Given the description of an element on the screen output the (x, y) to click on. 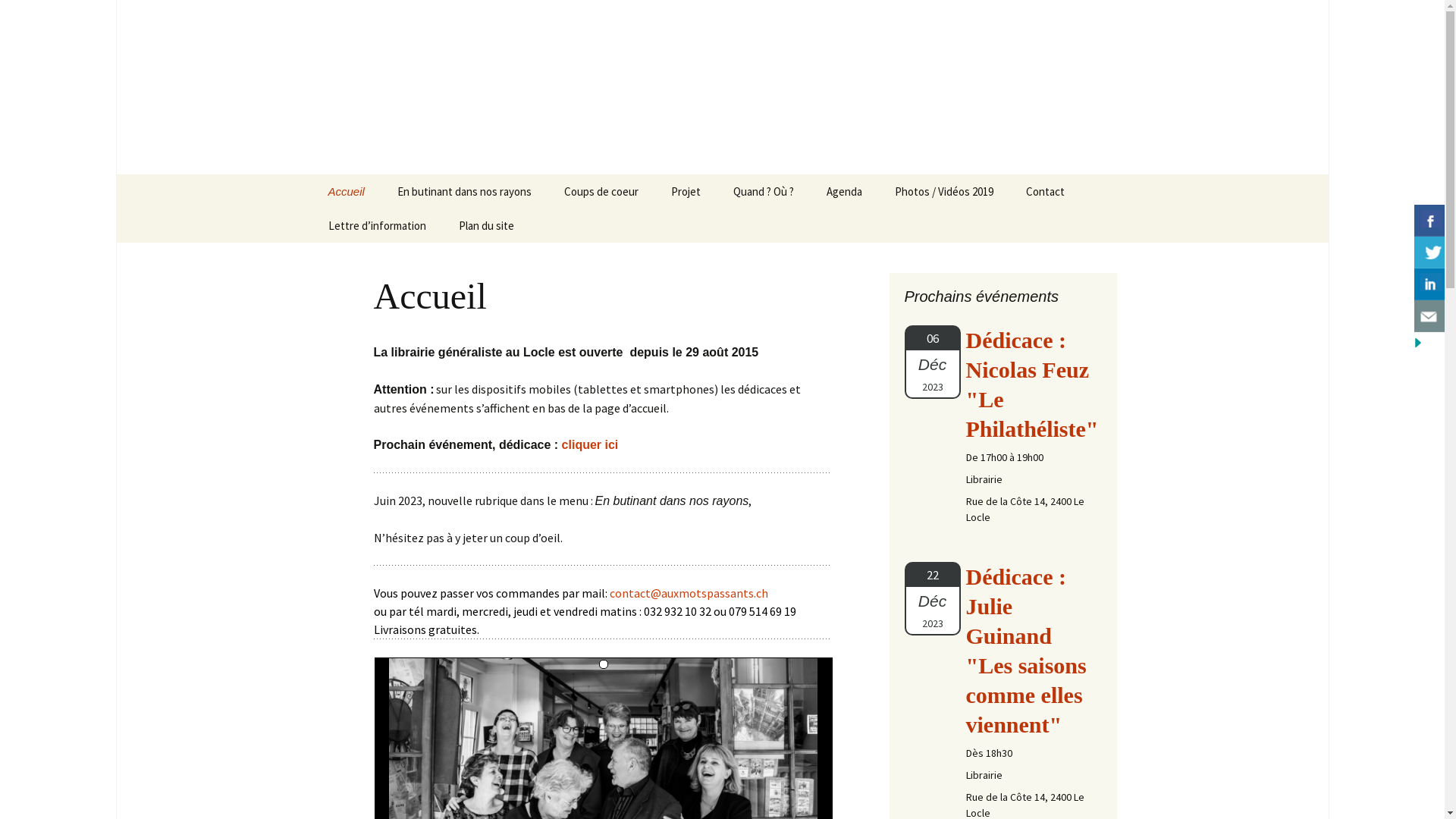
Partager sur Facebook Element type: hover (1431, 220)
Cacher les boutons Element type: hover (1430, 340)
Plan du site Element type: text (485, 225)
contact@auxmotspassants.ch Element type: text (688, 592)
Partager sur Twitter Element type: hover (1431, 252)
Coups de coeur Element type: text (601, 191)
Aller au contenu Element type: text (312, 173)
Projet Element type: text (685, 191)
MERCI de partager Element type: hover (1429, 277)
Contact Element type: text (1044, 191)
En butinant dans nos rayons Element type: text (464, 191)
Partager sur Linkedin Element type: hover (1431, 284)
Contact us Element type: hover (1431, 316)
Agenda Element type: text (844, 191)
Rechercher Element type: text (44, 15)
Rechercher Element type: text (18, 16)
Accueil Element type: text (345, 191)
cliquer ici Element type: text (589, 444)
